Given the description of an element on the screen output the (x, y) to click on. 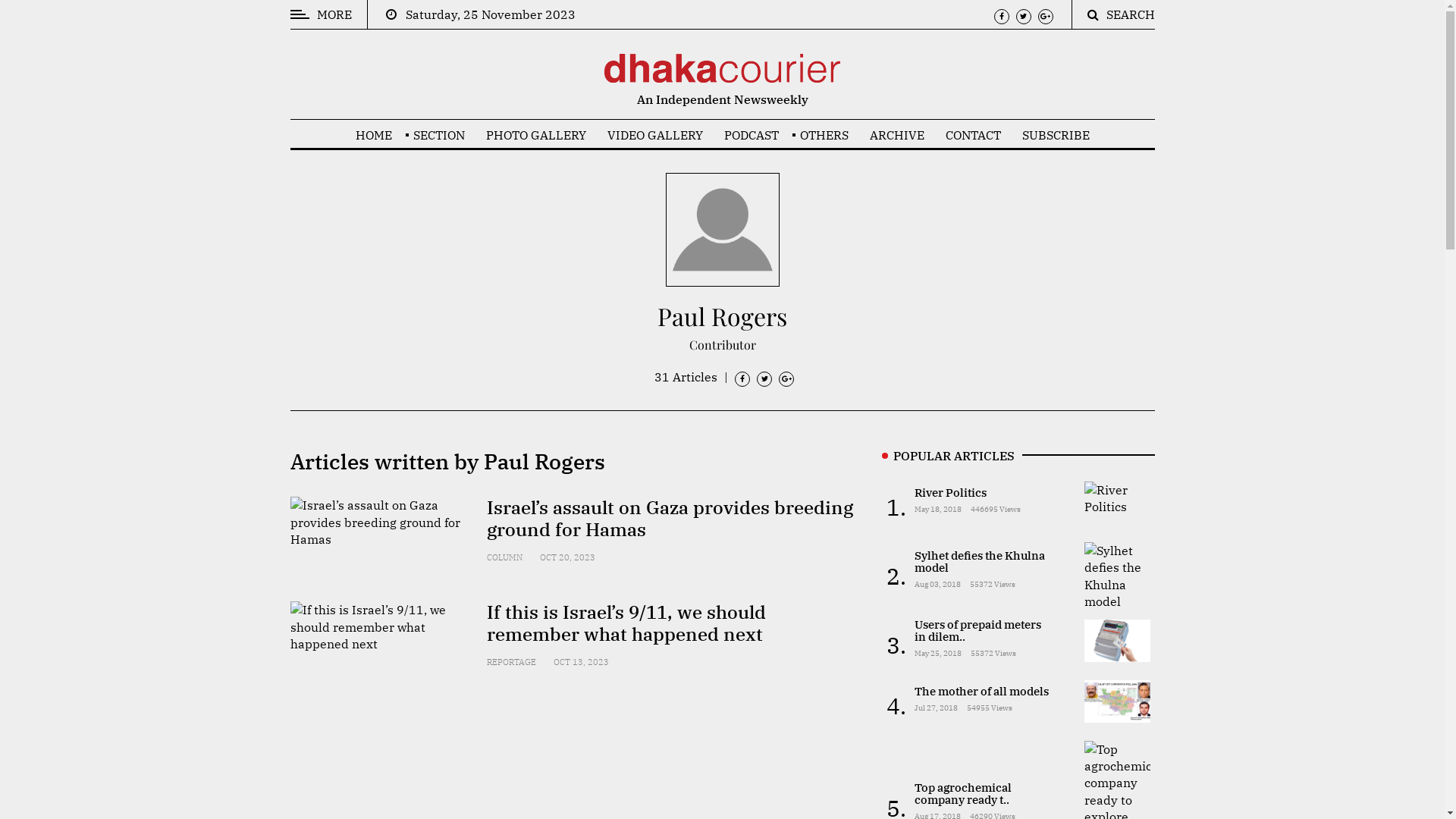
REPORTAGE Element type: text (511, 661)
ARCHIVE Element type: text (896, 134)
Users of prepaid meters in dilem.. Element type: text (977, 630)
CONTACT Element type: text (972, 134)
SUBSCRIBE Element type: text (1055, 134)
River Politics Element type: text (950, 492)
PODCAST Element type: text (750, 134)
Sylhet defies the Khulna model Element type: text (979, 561)
The mother of all models Element type: text (981, 691)
Top agrochemical company ready t.. Element type: text (962, 793)
HOME Element type: text (372, 134)
VIDEO GALLERY Element type: text (654, 134)
PHOTO GALLERY Element type: text (535, 134)
COLUMN Element type: text (504, 557)
OTHERS Element type: text (823, 134)
SECTION Element type: text (438, 134)
